Given the description of an element on the screen output the (x, y) to click on. 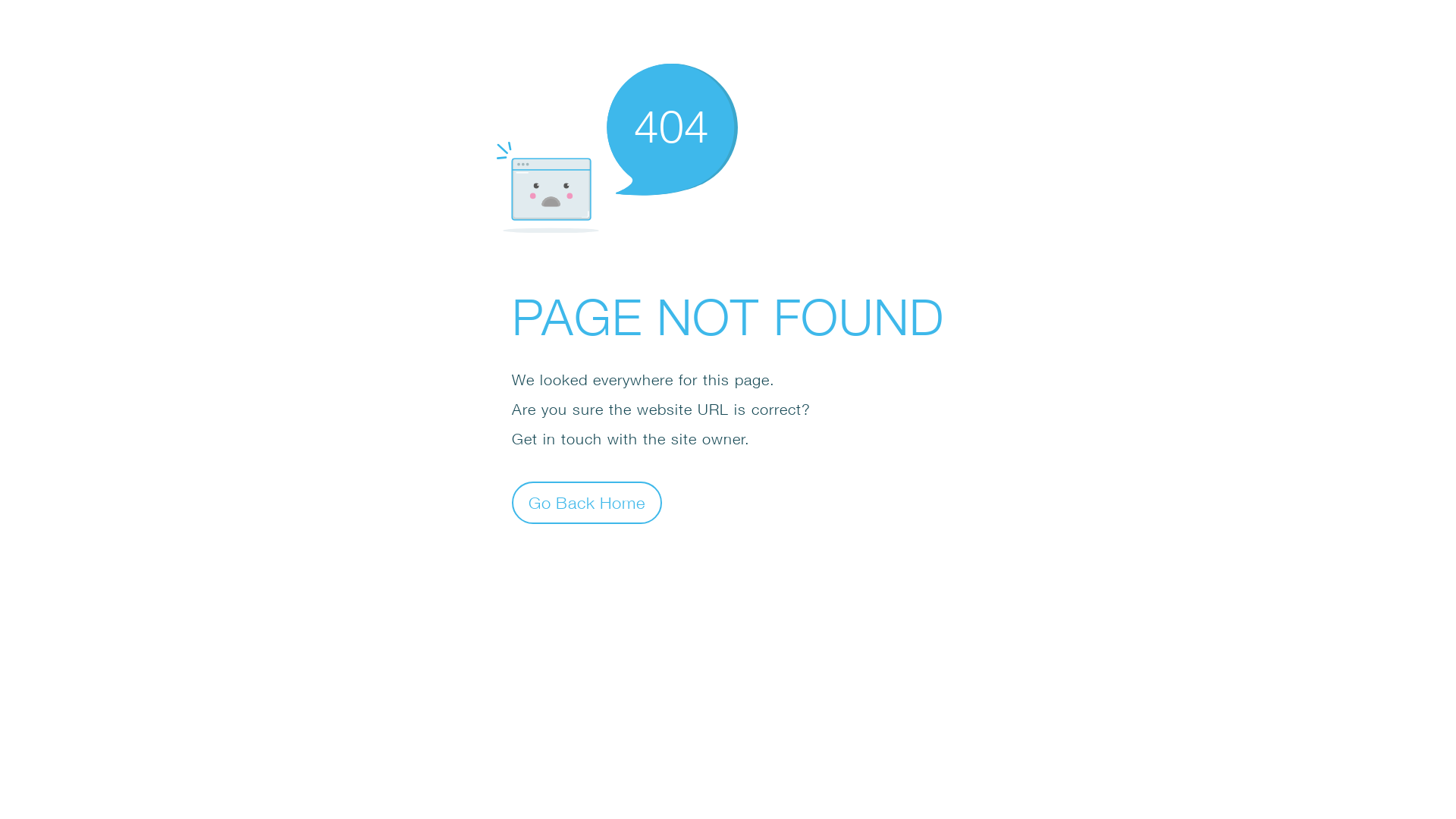
Go Back Home Element type: text (586, 502)
